Given the description of an element on the screen output the (x, y) to click on. 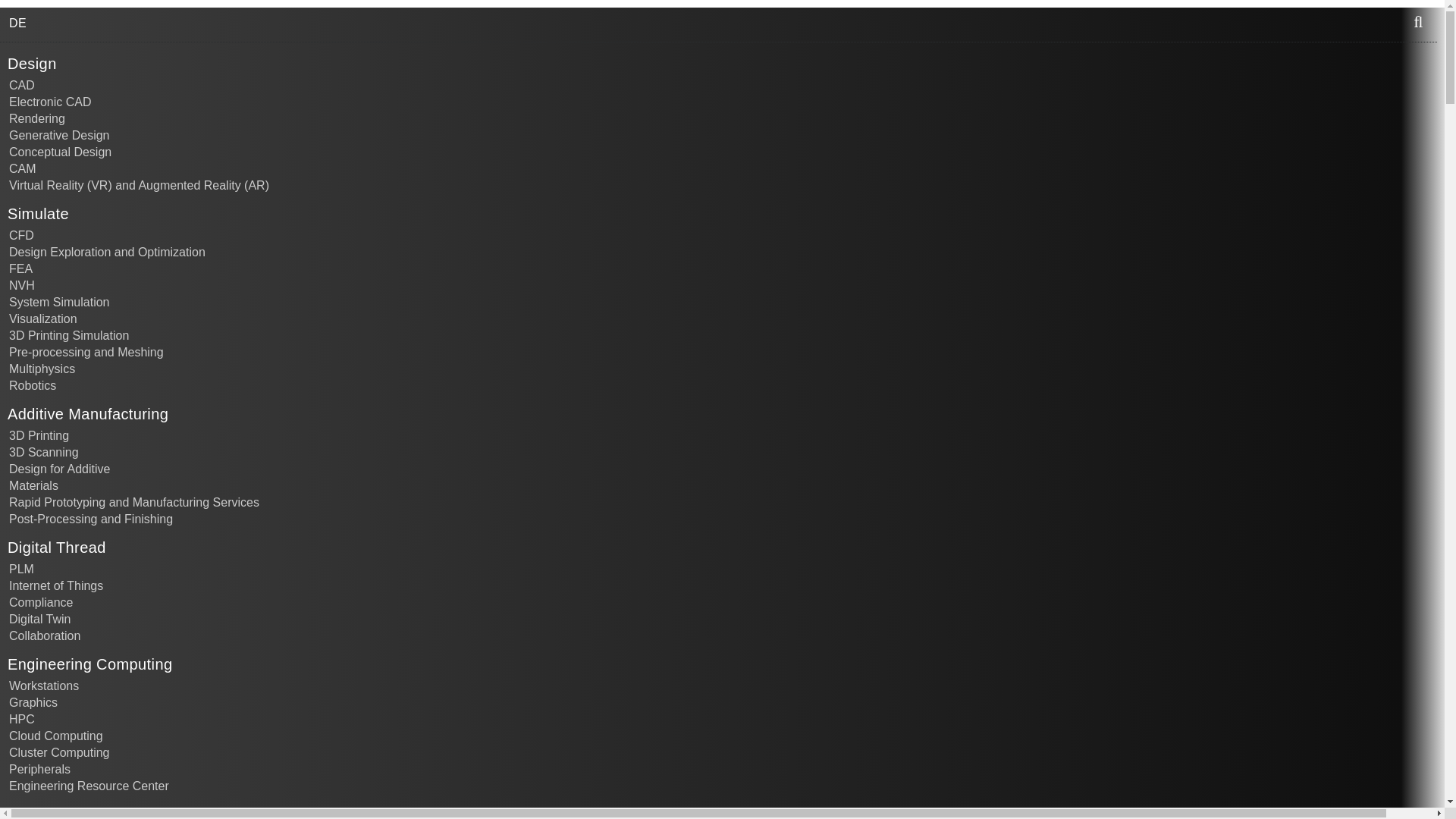
Robotics (726, 384)
Cluster Computing (726, 751)
Visualization (726, 317)
HPC (726, 718)
PLM (726, 567)
Multiphysics (726, 367)
FEA (726, 267)
Engineering Computing (89, 664)
Digital Thread (56, 547)
Generative Design (726, 134)
Cloud Computing (726, 734)
Pre-processing and Meshing (726, 351)
Post-Processing and Finishing (726, 517)
Digital Twin (726, 617)
